Given the description of an element on the screen output the (x, y) to click on. 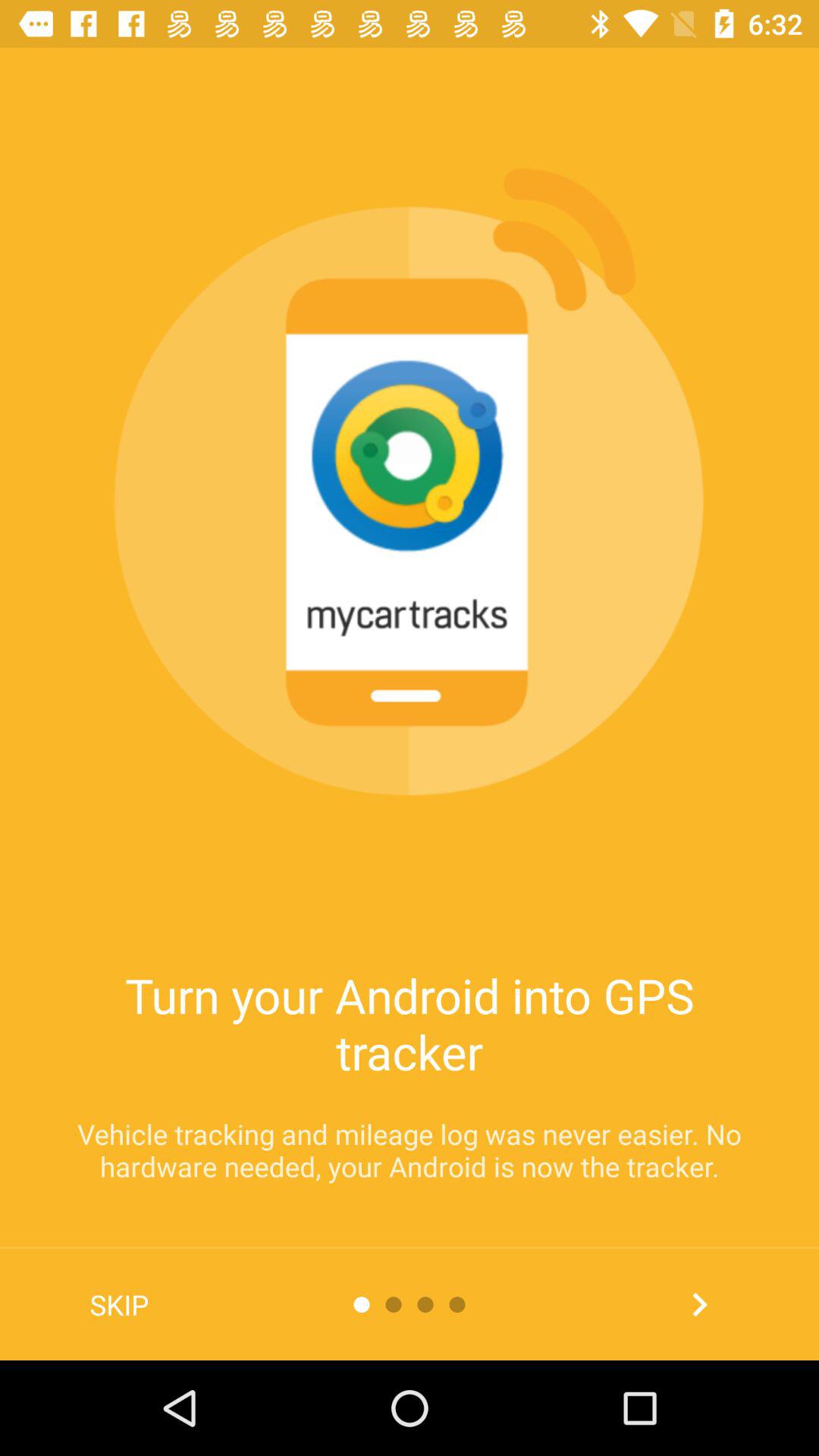
click the skip (119, 1304)
